Given the description of an element on the screen output the (x, y) to click on. 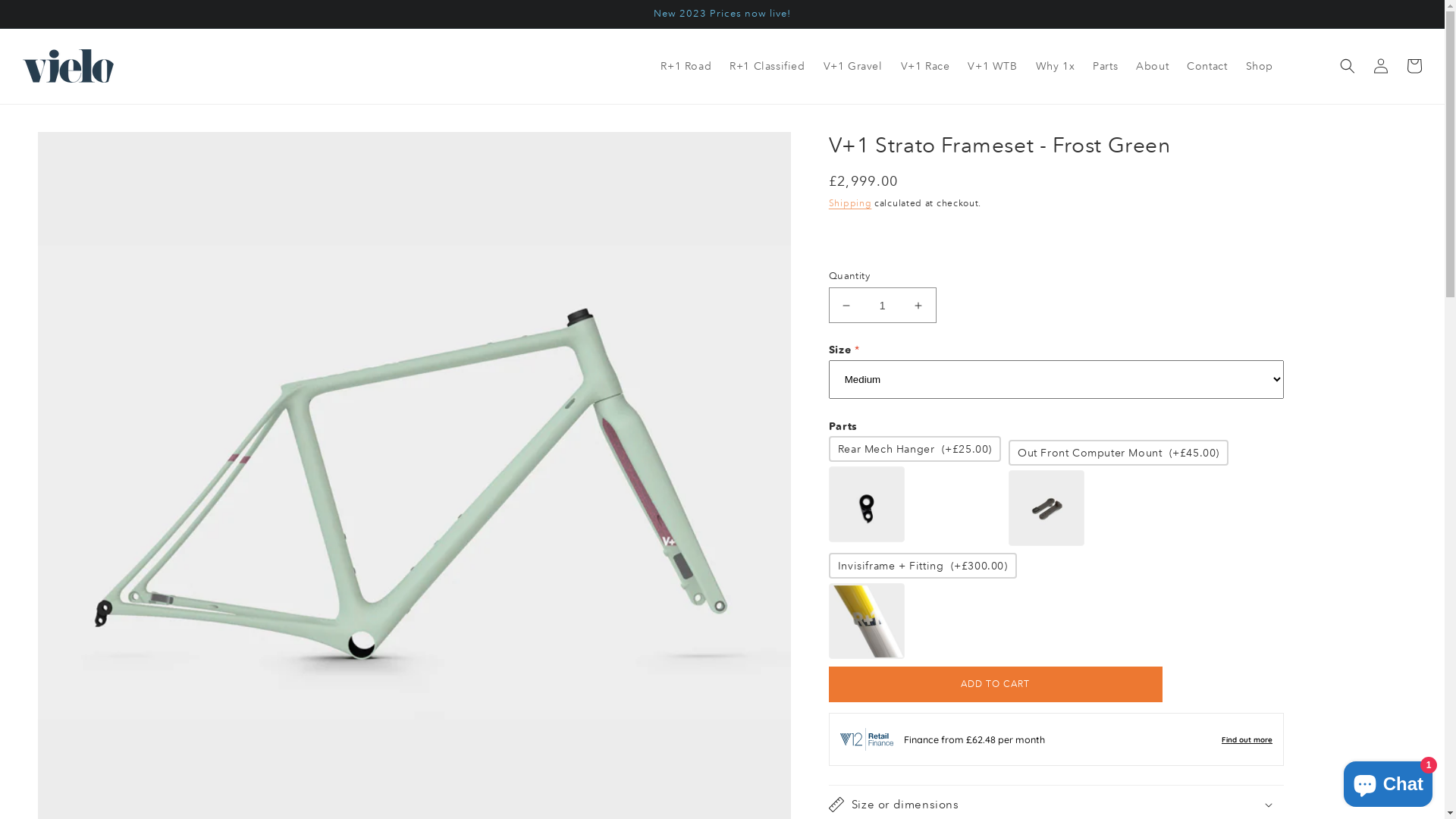
Log in Element type: text (1380, 65)
Parts Element type: text (1104, 65)
Increase quantity for V+1 Strato Frameset - Frost Green Element type: text (918, 305)
Shopify online store chat Element type: hover (1388, 780)
ADD TO CART Element type: text (995, 684)
V+1 Race Element type: text (925, 65)
R+1 Road Element type: text (685, 65)
V+1 Gravel Element type: text (852, 65)
Shipping Element type: text (850, 202)
SKIP TO PRODUCT INFORMATION Element type: text (83, 148)
Shop Element type: text (1258, 65)
V+1 WTB Element type: text (992, 65)
R+1 Classified Element type: text (766, 65)
About Element type: text (1151, 65)
Decrease quantity for V+1 Strato Frameset - Frost Green Element type: text (846, 305)
Why 1x Element type: text (1055, 65)
Contact Element type: text (1206, 65)
Cart Element type: text (1413, 65)
